Given the description of an element on the screen output the (x, y) to click on. 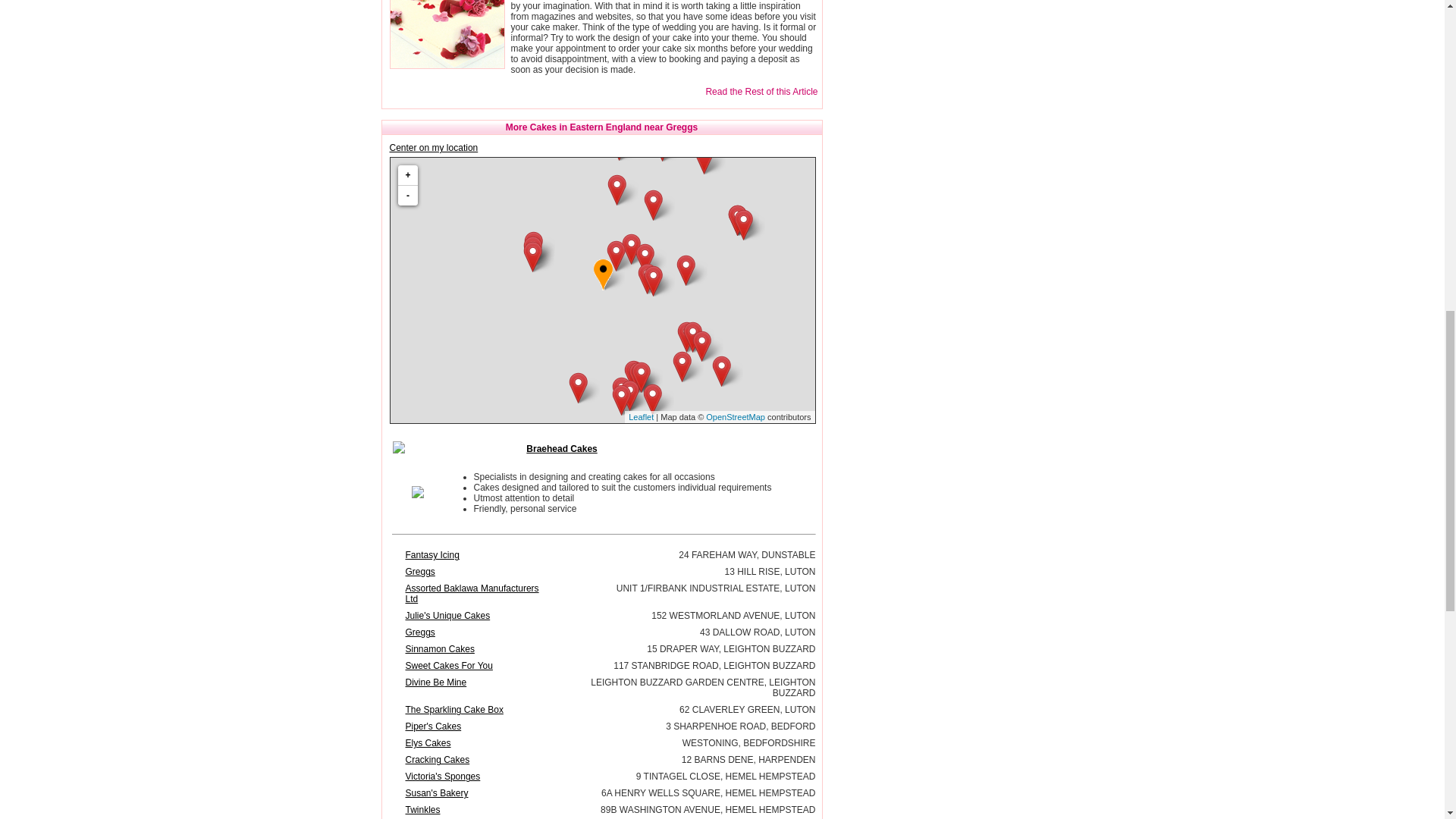
Cracking Cakes (436, 759)
Leaflet (640, 416)
Divine Be Mine (434, 682)
Elys Cakes (426, 742)
Zoom in (406, 175)
Greggs (418, 632)
Fantasy Icing (431, 554)
A JS library for interactive maps (640, 416)
Susan's Bakery (435, 792)
Zoom out (406, 195)
Sinnamon Cakes (439, 648)
Piper's Cakes (432, 726)
Victoria's Sponges (442, 776)
OpenStreetMap (735, 416)
Braehead Cakes (560, 448)
